Given the description of an element on the screen output the (x, y) to click on. 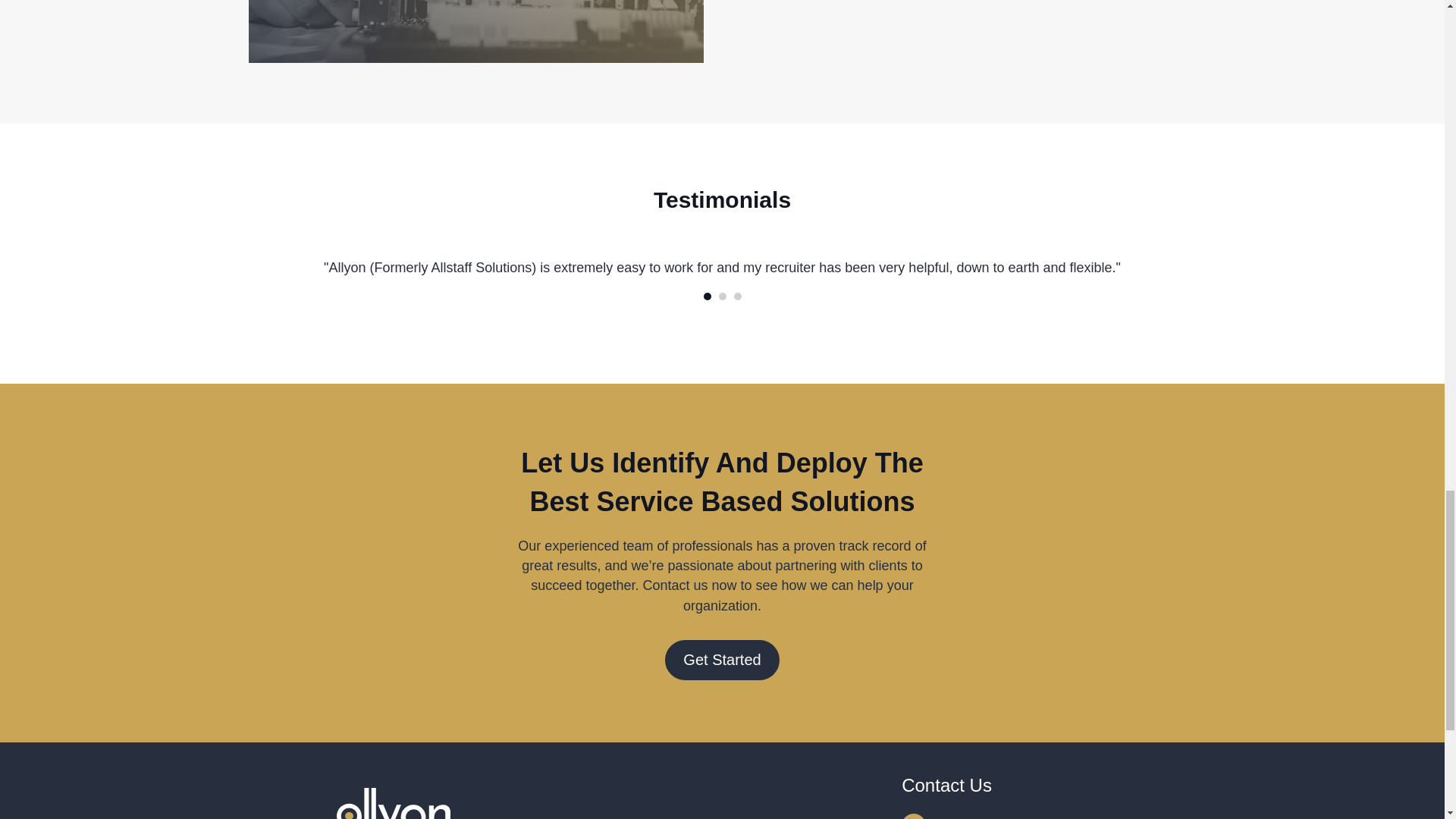
Allyon, Better Together (392, 803)
PC-technician-working (475, 31)
call icon (913, 816)
